Given the description of an element on the screen output the (x, y) to click on. 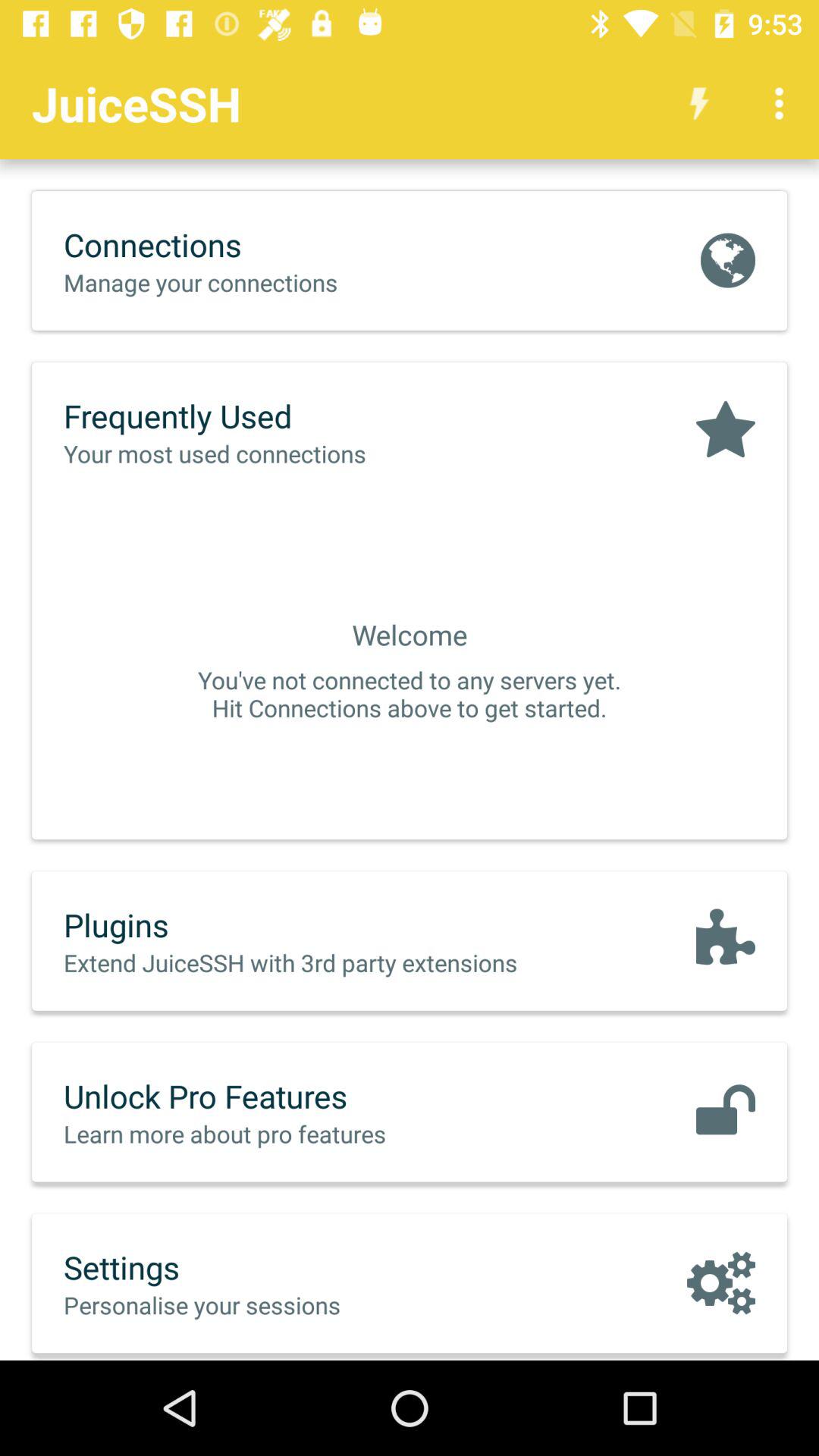
click the item next to the unlock pro features icon (725, 1111)
